Given the description of an element on the screen output the (x, y) to click on. 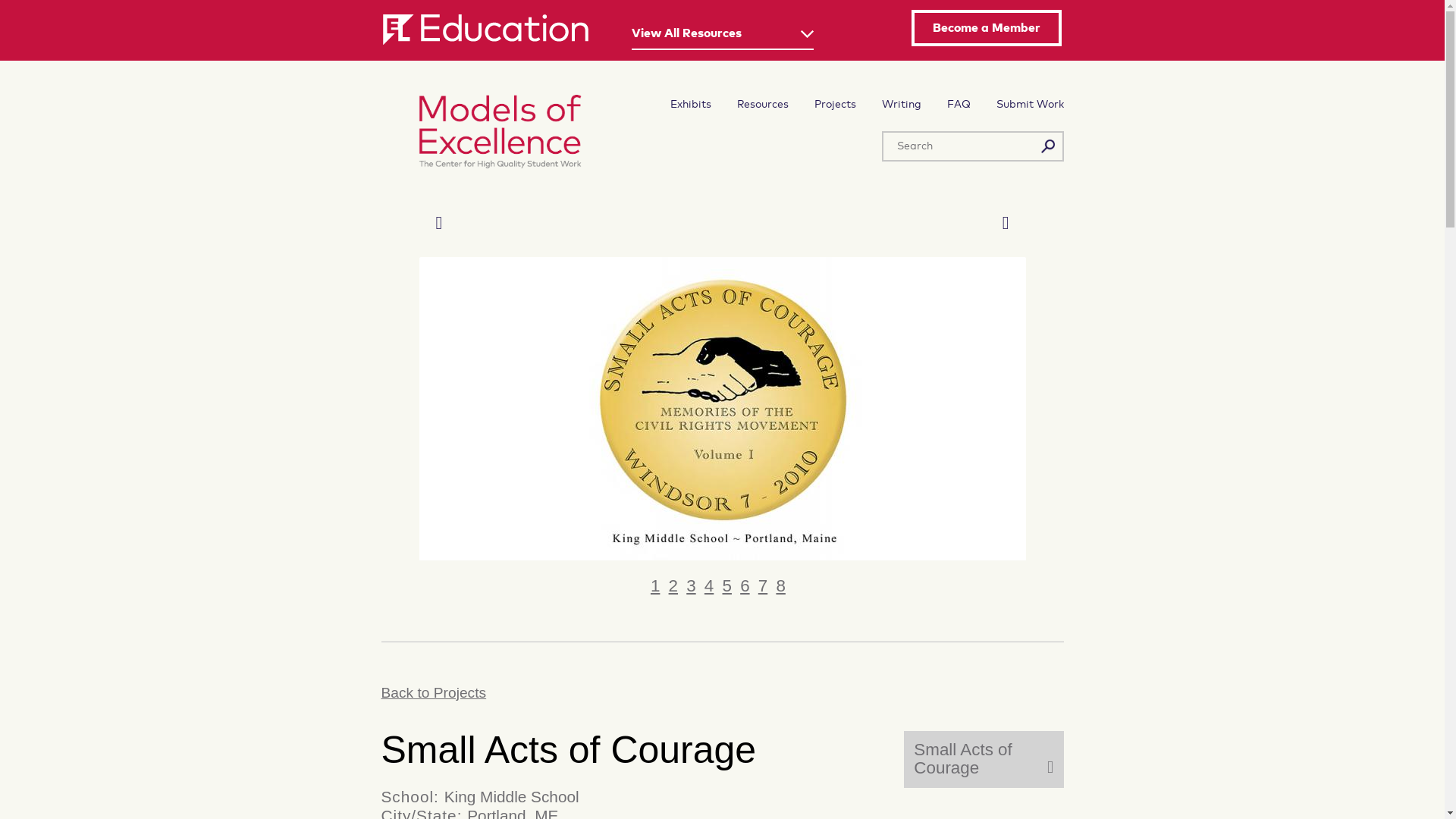
Back to Projects (721, 692)
Search (1048, 146)
Frequently Asked Questions (957, 104)
Models of Excellence (513, 134)
View All Resources (721, 36)
Projects (834, 104)
Become a Member (986, 27)
Search (1048, 146)
Submit Work (1029, 104)
Writing (900, 104)
Resources (762, 104)
FAQ (957, 104)
Exhibits (690, 104)
